Given the description of an element on the screen output the (x, y) to click on. 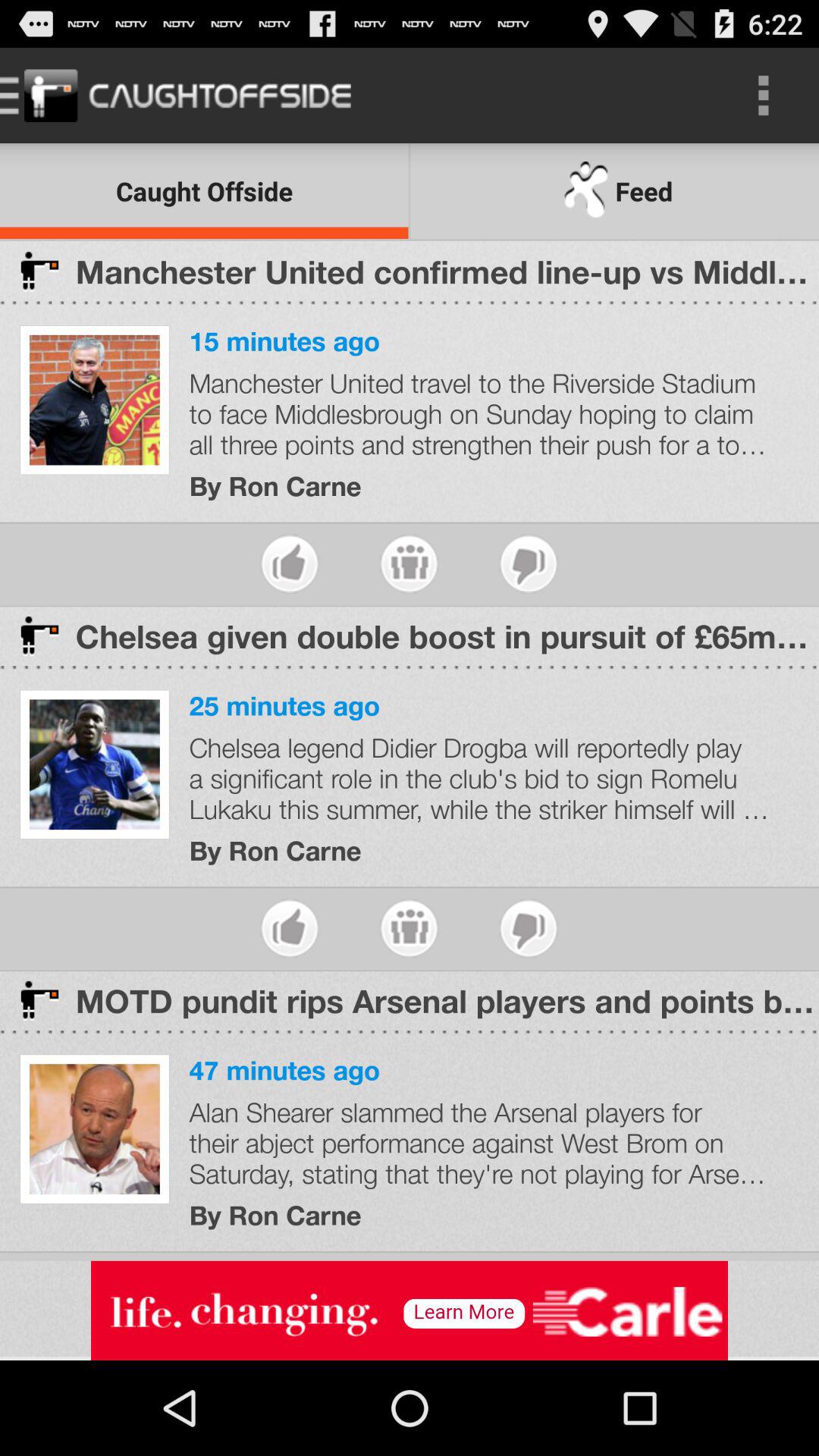
dislike the article (528, 928)
